Given the description of an element on the screen output the (x, y) to click on. 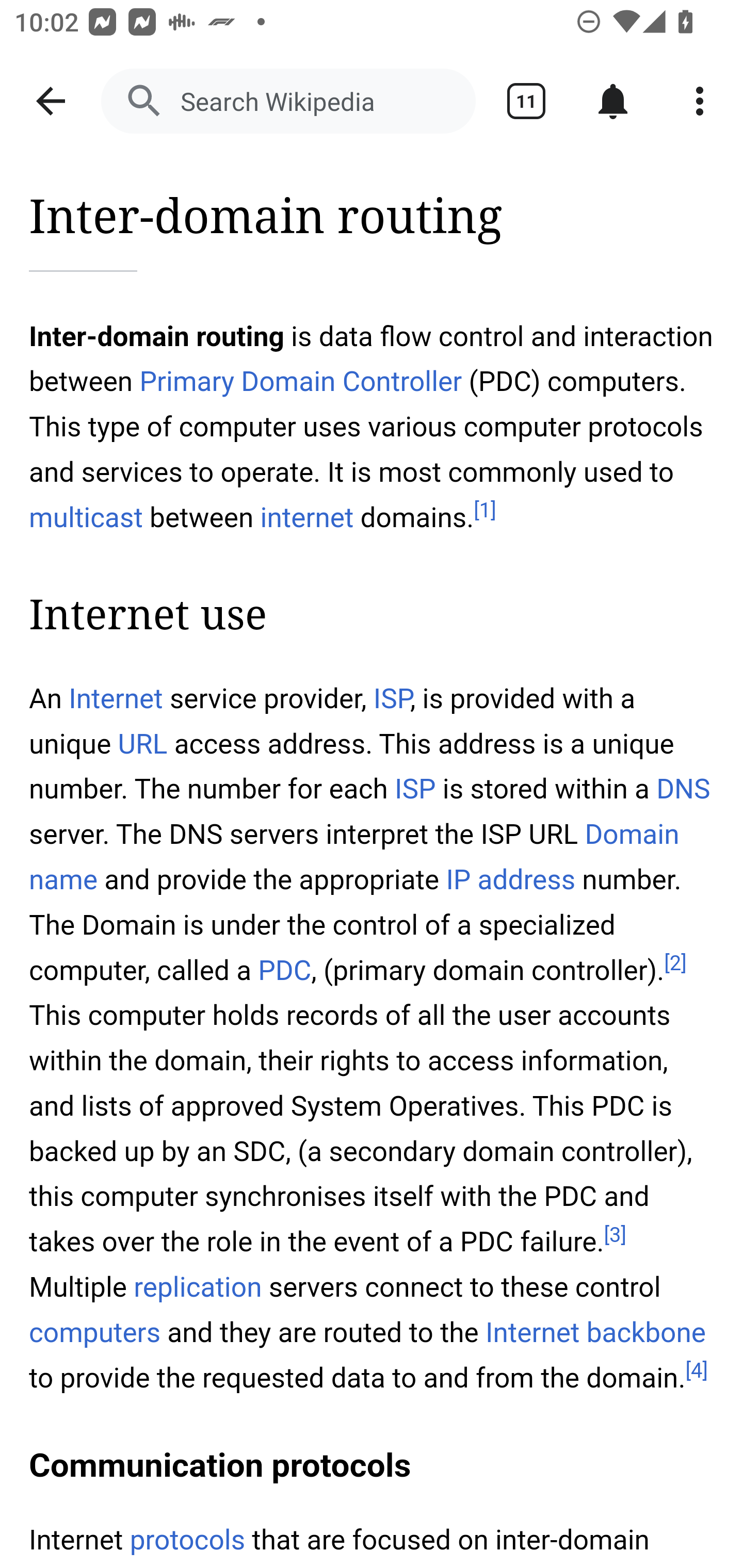
Show tabs 11 (525, 100)
Notifications (612, 100)
Navigate up (50, 101)
More options (699, 101)
Search Wikipedia (288, 100)
Primary Domain Controller (300, 381)
[] [ 1 ] (484, 510)
multicast (86, 517)
internet (307, 517)
Internet (116, 699)
ISP (391, 699)
URL (142, 744)
ISP (414, 789)
DNS (683, 789)
Domain name (354, 856)
IP address (509, 879)
[] [ 2 ] (675, 963)
PDC (284, 970)
[] [ 3 ] (615, 1233)
replication (198, 1287)
computers (95, 1332)
Internet backbone (595, 1332)
[] [ 4 ] (696, 1370)
protocols (186, 1540)
